Given the description of an element on the screen output the (x, y) to click on. 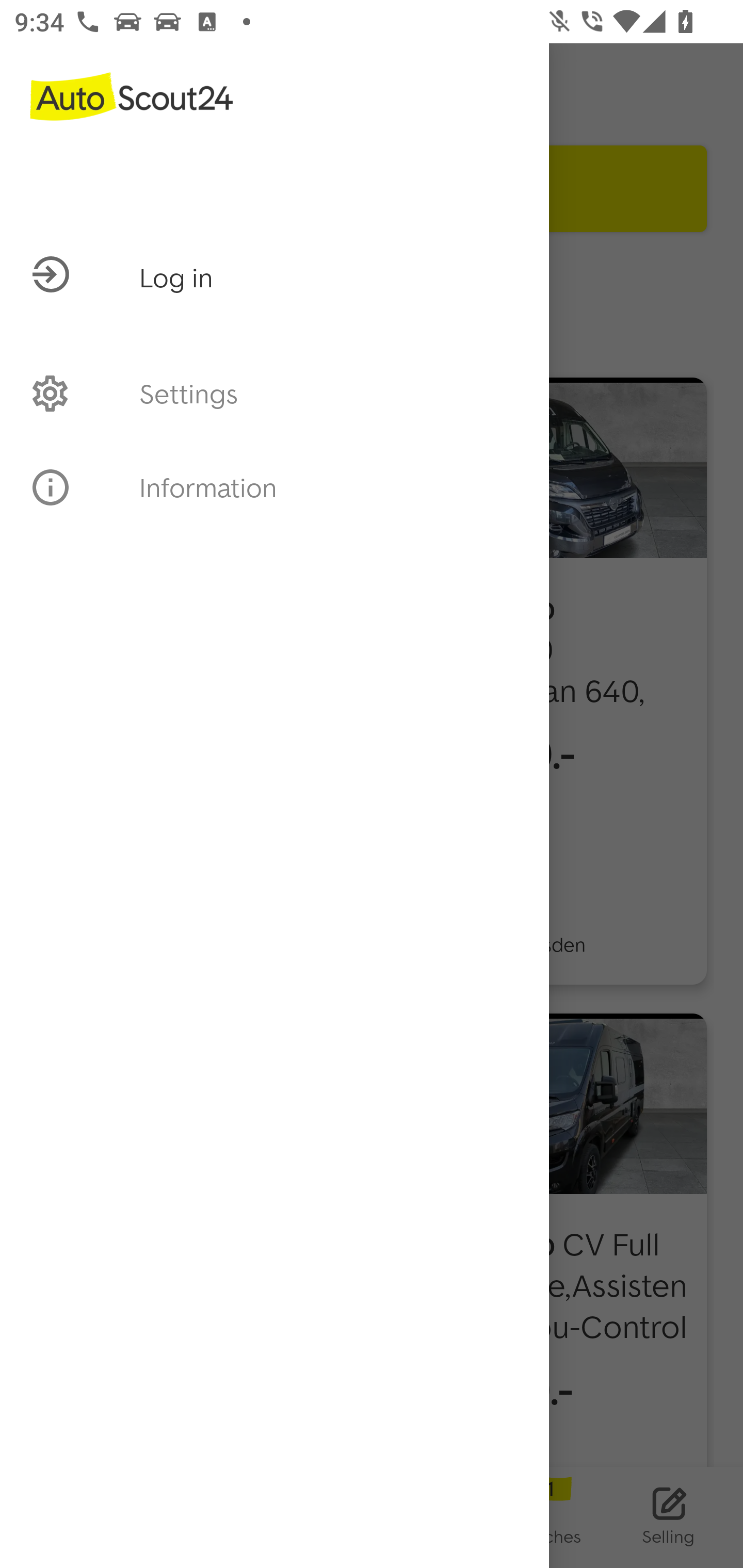
PROFILE Settings (274, 393)
INFO Information (274, 487)
